Given the description of an element on the screen output the (x, y) to click on. 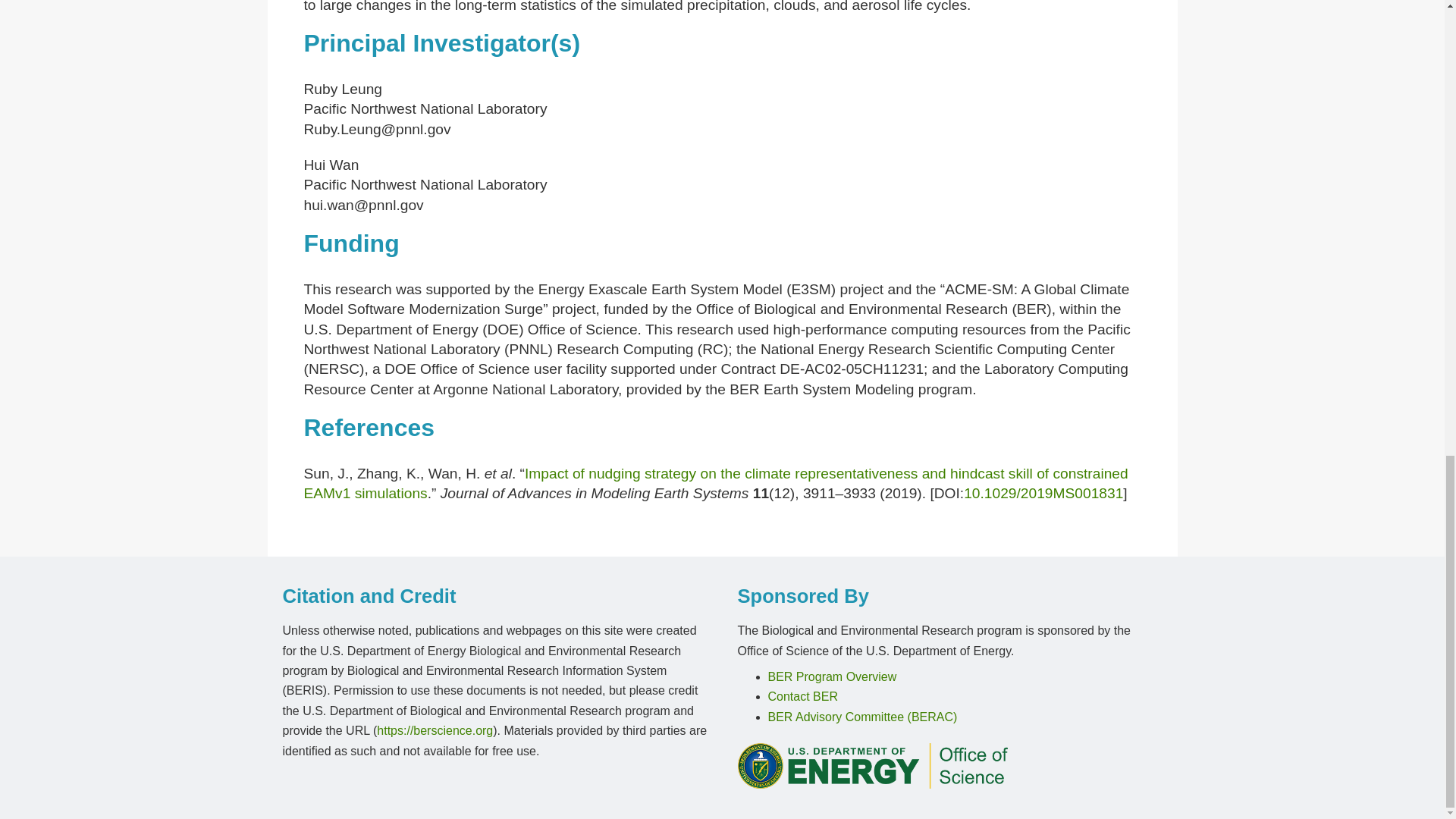
Contact BER (802, 696)
BER Program Overview (831, 676)
